Given the description of an element on the screen output the (x, y) to click on. 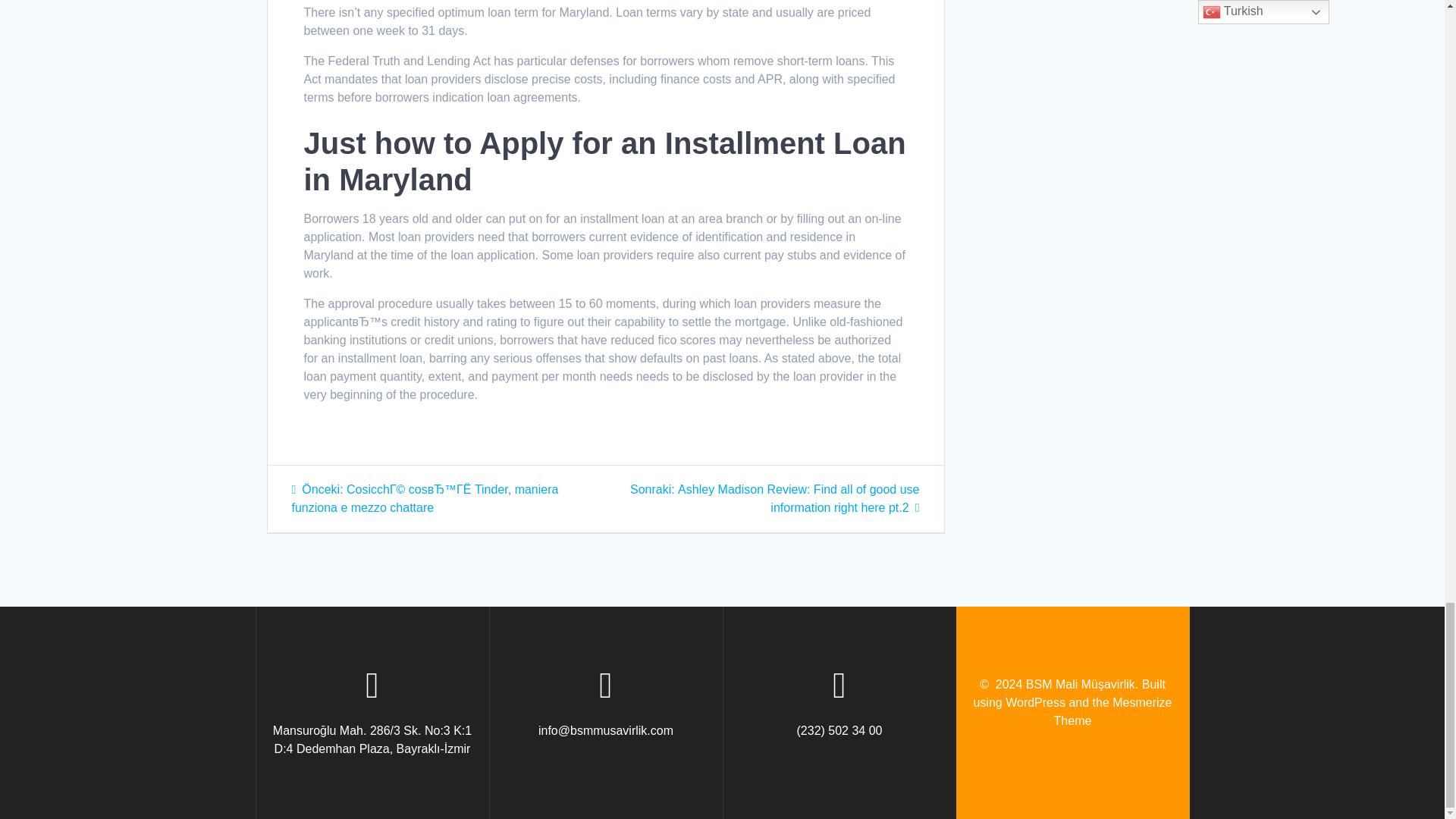
Mesmerize Theme (1113, 711)
